Given the description of an element on the screen output the (x, y) to click on. 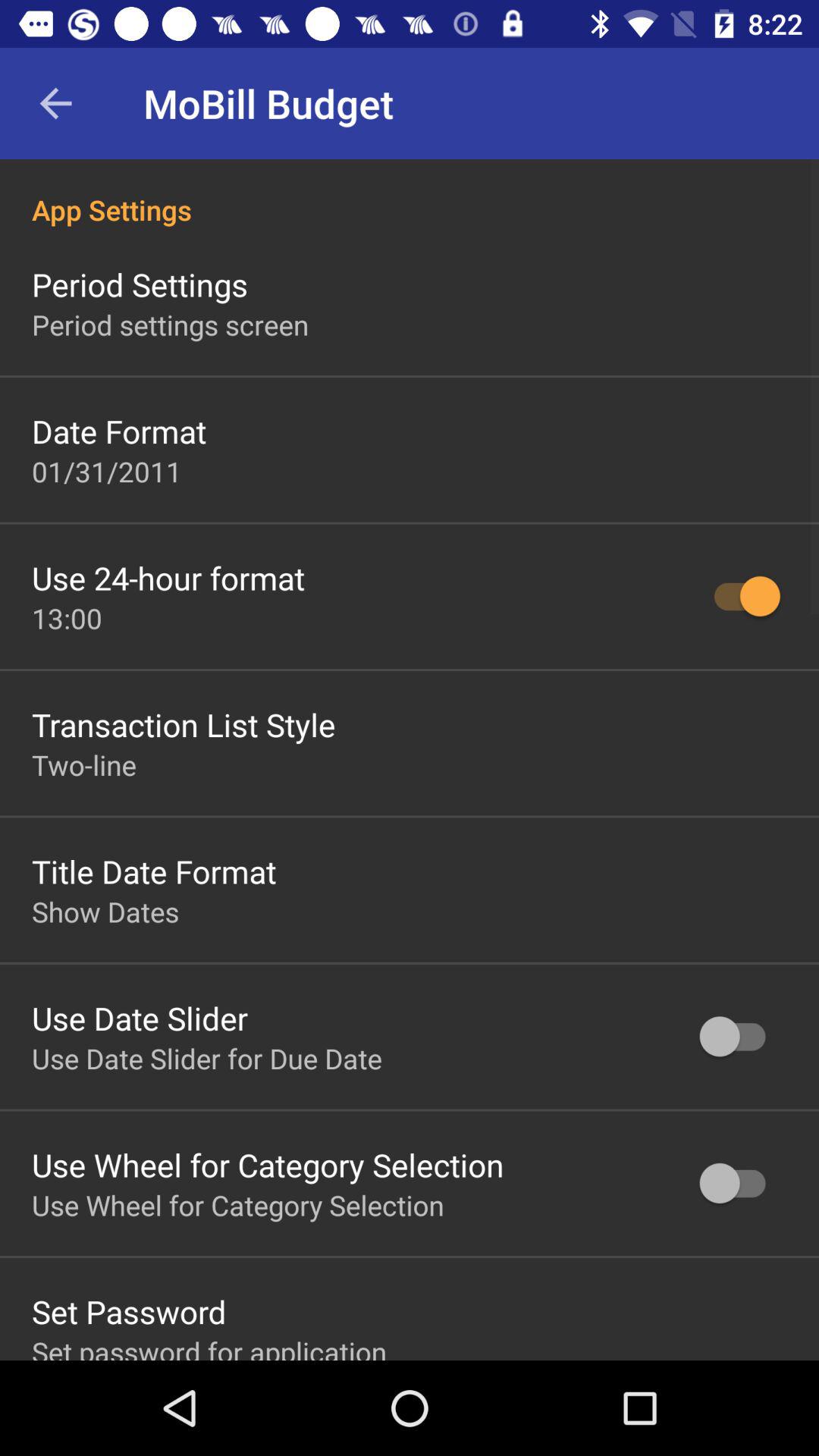
jump until app settings icon (409, 193)
